Given the description of an element on the screen output the (x, y) to click on. 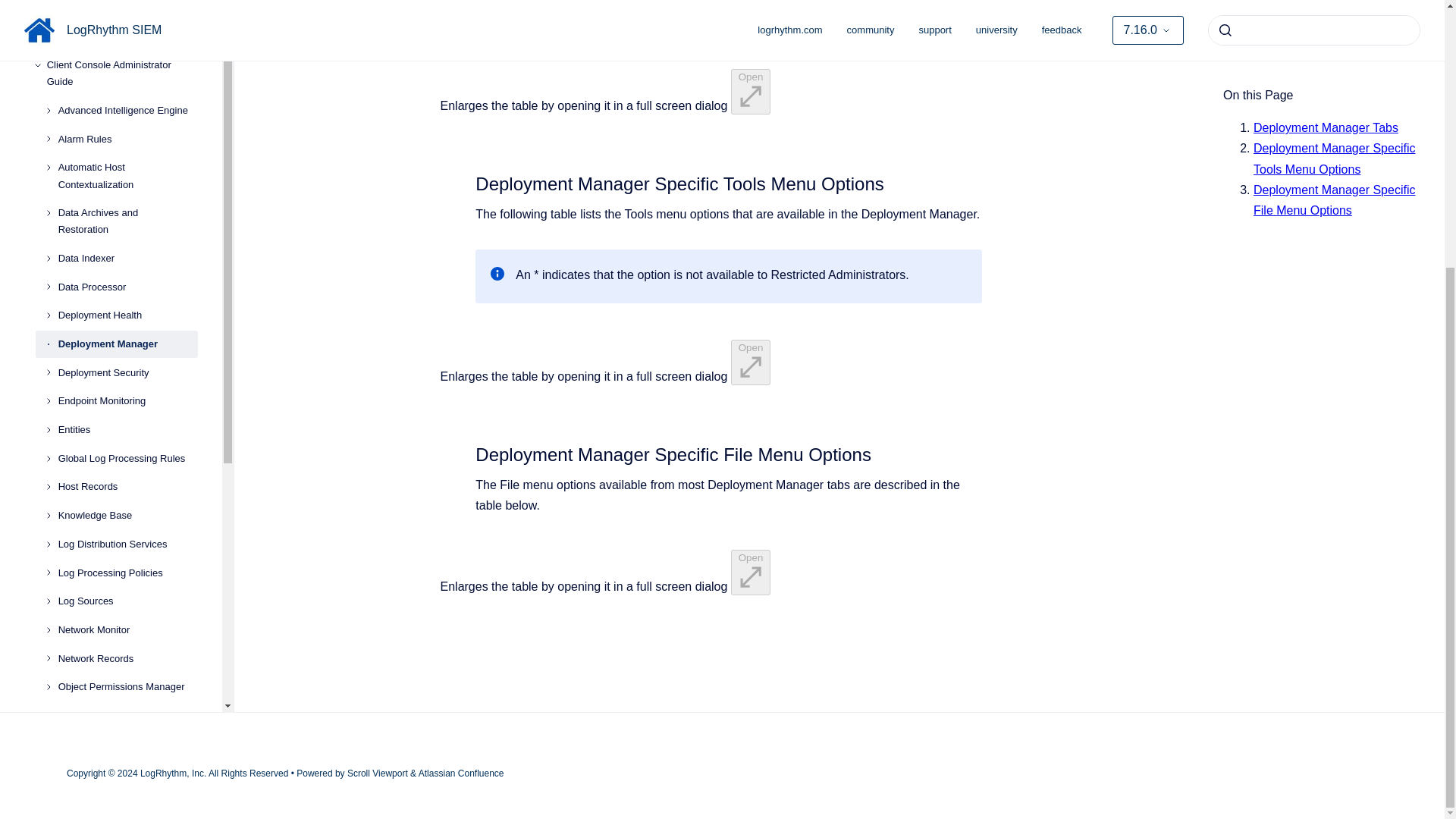
Deployment Health (128, 35)
Global Log Processing Rules (128, 177)
Entities (128, 148)
Copy to clipboard (468, 182)
Deployment Security (128, 92)
Endpoint Monitoring (128, 121)
Data Processor (128, 10)
Deployment Manager (128, 62)
Copy to clipboard (468, 453)
